Given the description of an element on the screen output the (x, y) to click on. 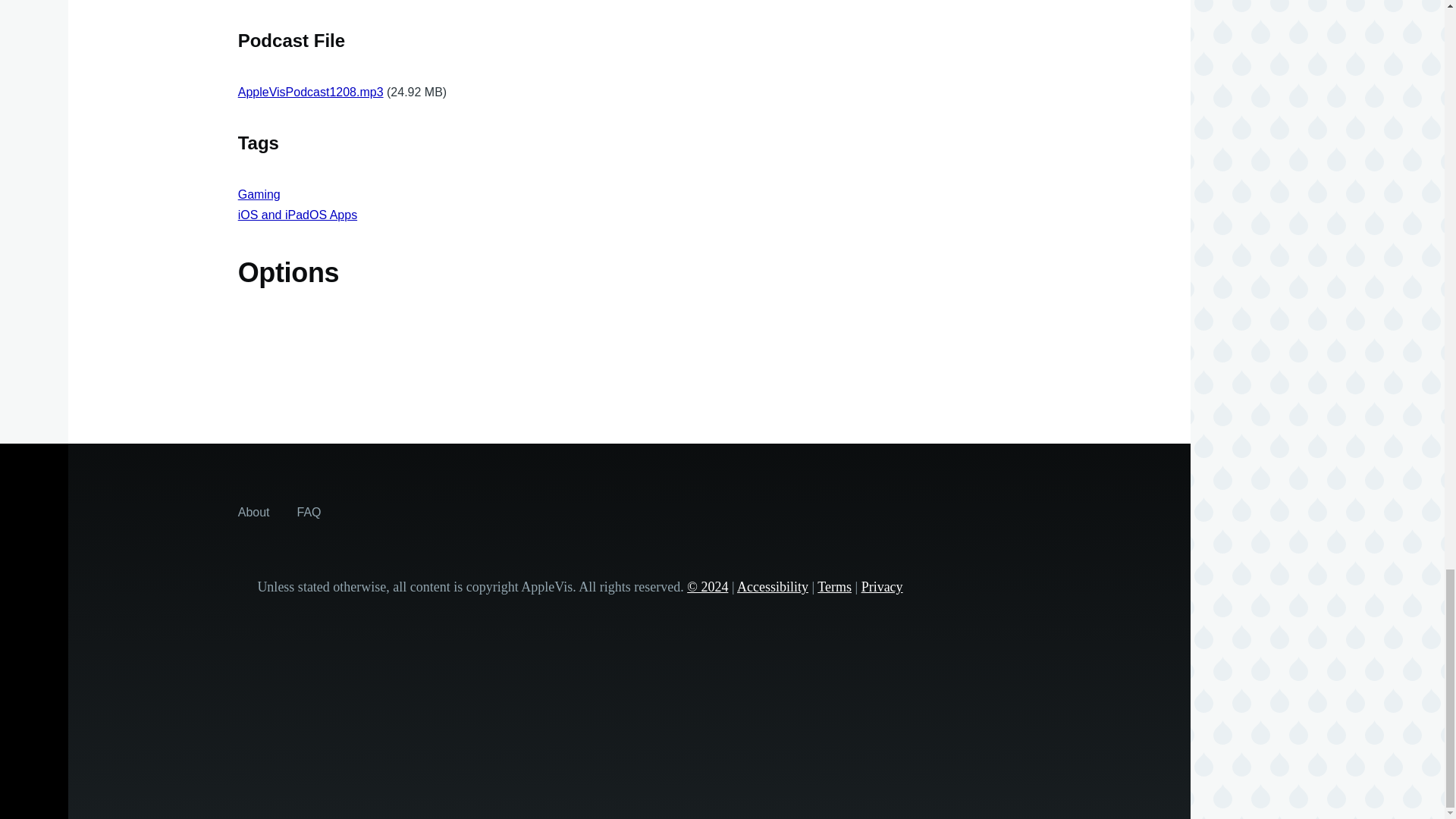
About (253, 511)
About (253, 511)
Privacy (881, 586)
iOS and iPadOS Apps (297, 214)
Terms (833, 586)
Accessibility (772, 586)
AppleVisPodcast1208.mp3 (311, 91)
Gaming (259, 194)
